Given the description of an element on the screen output the (x, y) to click on. 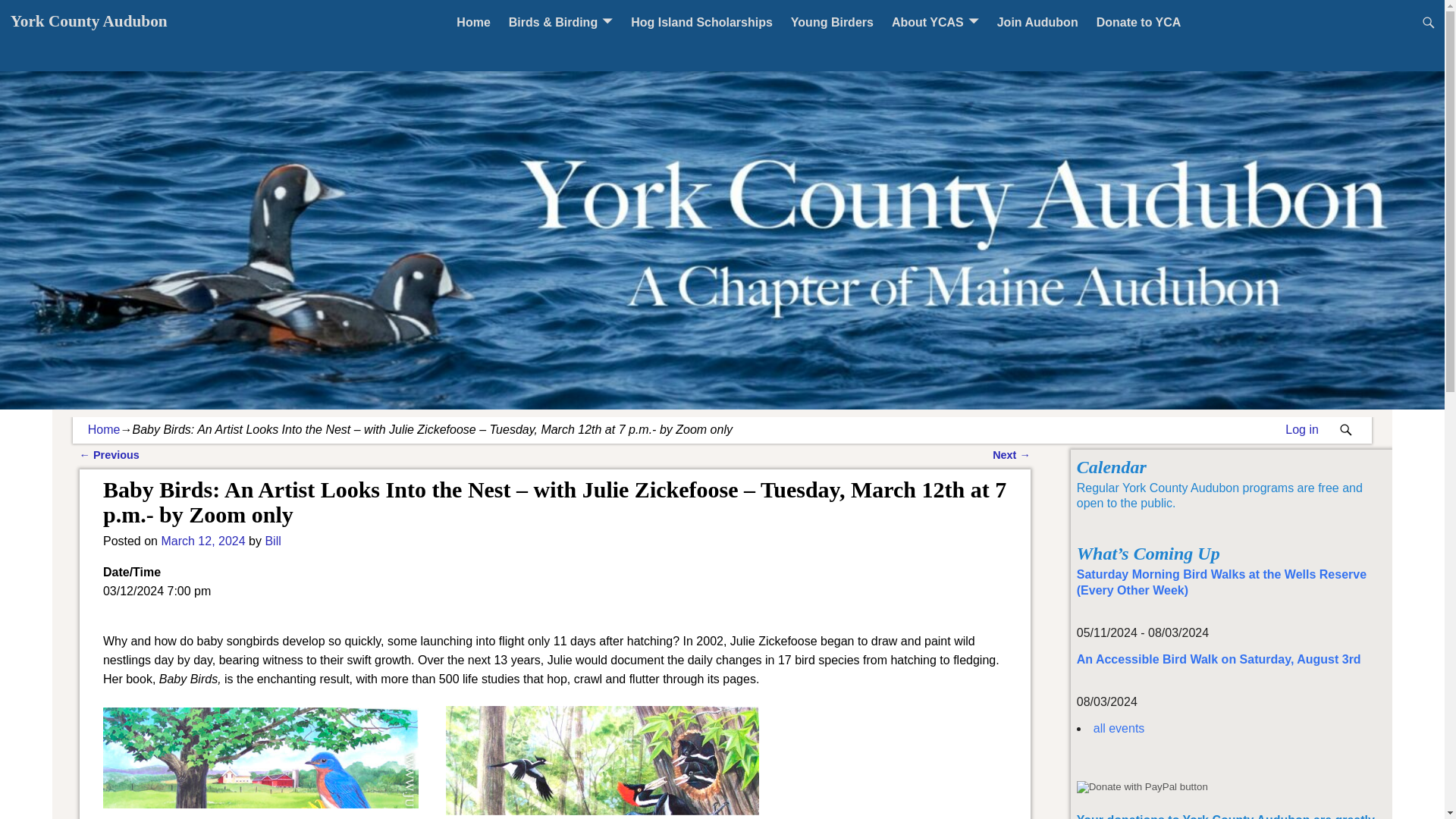
Log in (1302, 429)
Be a member in York County, in all of Maine, and nationwide (1037, 22)
March 12, 2024 (202, 540)
View all posts by Bill (272, 540)
Bill (272, 540)
Join Audubon (1037, 22)
PayPal - The safer, easier way to pay online! (1142, 787)
Hog Island Scholarships (701, 22)
Home (472, 22)
all events (1118, 727)
Young Birders (831, 22)
About YCAS (935, 22)
7:00 pm (202, 540)
York County Audubon (88, 21)
Home (103, 429)
